Given the description of an element on the screen output the (x, y) to click on. 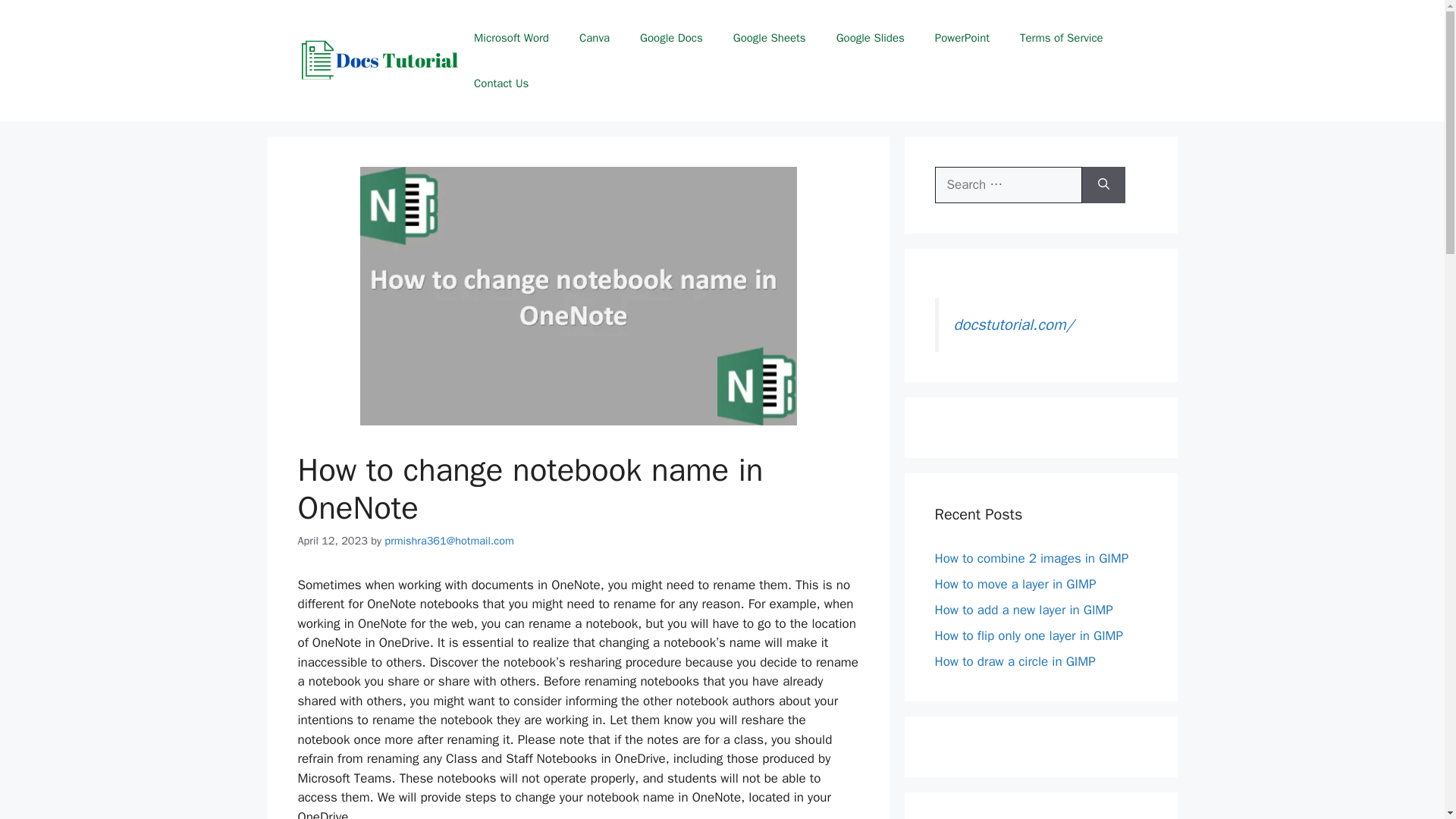
How to add a new layer in GIMP (1023, 609)
How to flip only one layer in GIMP (1028, 635)
Canva (594, 37)
Terms of Service (1061, 37)
PowerPoint (962, 37)
Search for: (1007, 185)
Google Sheets (769, 37)
Google Slides (870, 37)
How to combine 2 images in GIMP (1031, 558)
How to draw a circle in GIMP (1014, 661)
